Given the description of an element on the screen output the (x, y) to click on. 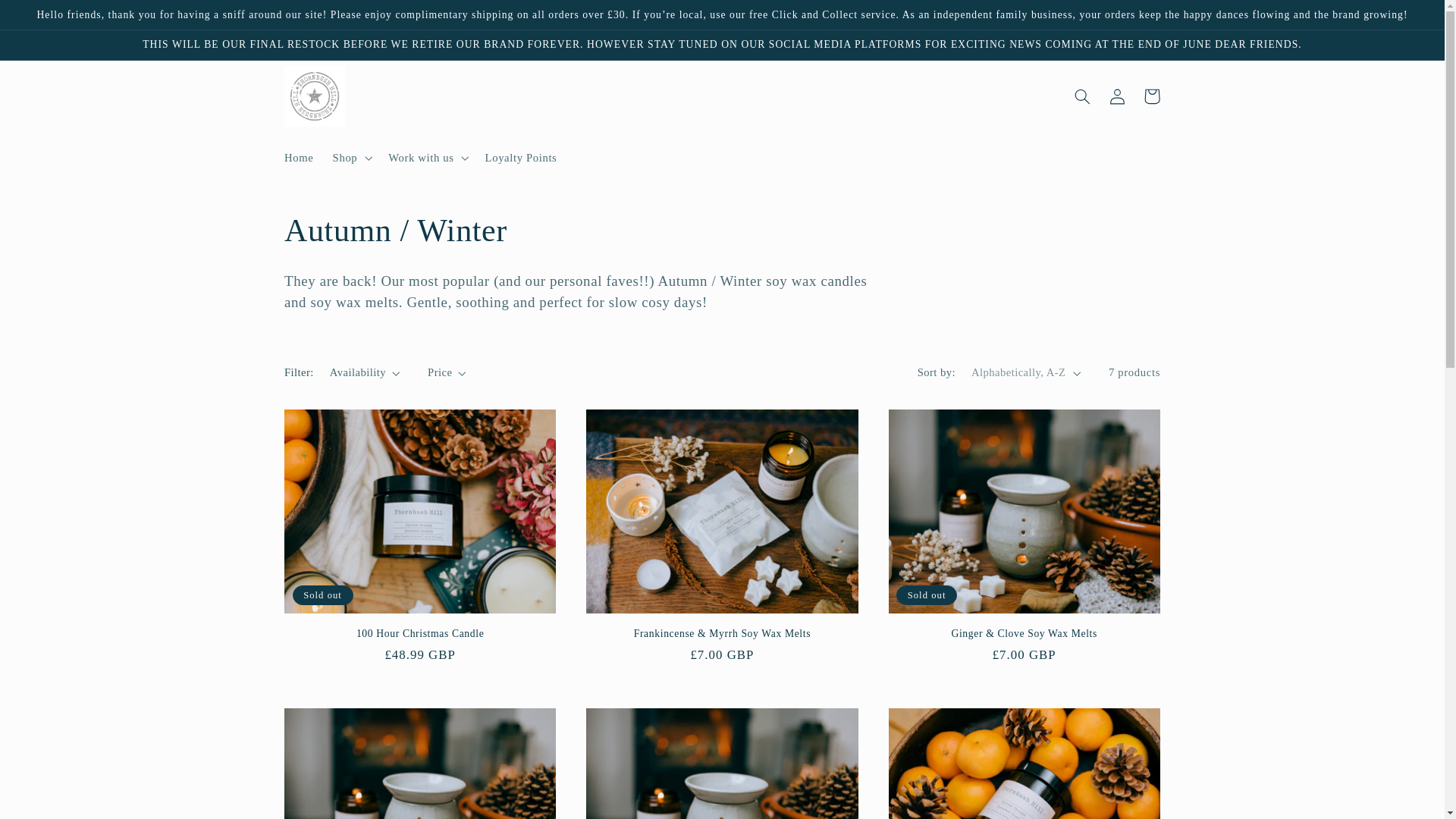
Loyalty Points (521, 157)
Log in (1116, 95)
Cart (1151, 95)
Skip to content (48, 18)
Home (299, 157)
